Given the description of an element on the screen output the (x, y) to click on. 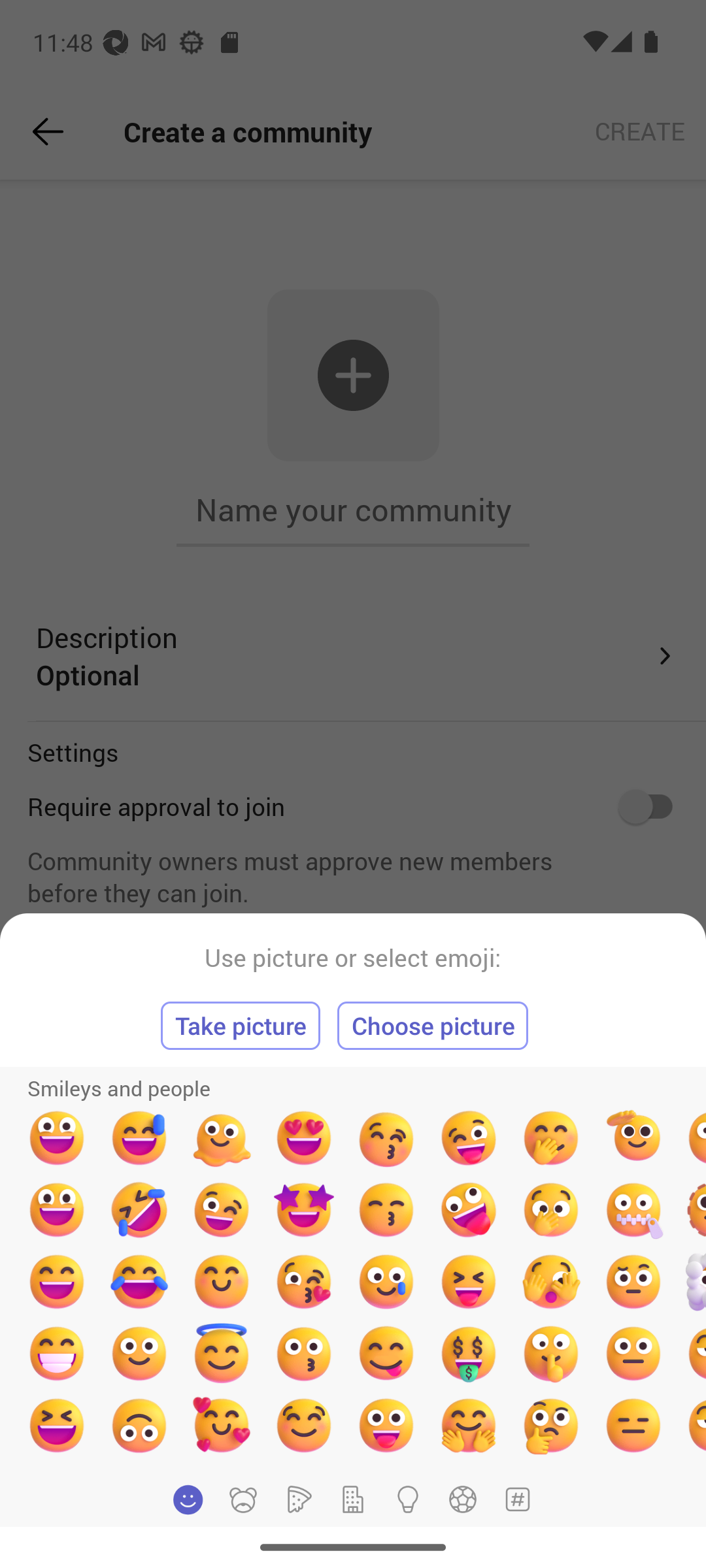
Take picture (240, 1025)
Choose picture (432, 1025)
Grinning face with big eyes emoji (56, 1138)
Sweat grinning emoji (139, 1138)
Melting face emoji (221, 1138)
Heart eyes emoji (303, 1138)
Kissing face with closed eyes emoji (386, 1138)
Winking tongue out emoji (468, 1138)
Giggle emoji (550, 1138)
Saluting face emoji (633, 1138)
Happy face emoji (56, 1210)
Rolling on the floor laughing emoji (139, 1210)
Wink emoji (221, 1210)
Star eyes emoji (303, 1210)
Kissing face with smiling eyes emoji (386, 1210)
Zany face emoji (468, 1210)
Hand over mouth emoji (550, 1210)
Zipper mouth face emoji (633, 1210)
Grinning face with smiling eyes emoji (56, 1281)
Crying with laughter emoji (139, 1281)
Smile eyes emoji (221, 1281)
Face blowing a kiss emoji (303, 1281)
Smiling face with tear emoji (386, 1281)
Squinting face with tongue emoji (468, 1281)
Peeking eye emoji (550, 1281)
Wondering emoji (633, 1281)
Beaming face with smiling eyes emoji (56, 1353)
Smile emoji (139, 1353)
Angel emoji (221, 1353)
Kiss emoji (303, 1353)
Cheeky emoji (386, 1353)
Money mouth face emoji (468, 1353)
My lips are sealed emoji (550, 1353)
Speechless emoji (633, 1353)
Laugh emoji (56, 1425)
Upside down face emoji (139, 1425)
In love emoji (221, 1425)
Mmmmm… emoji (303, 1425)
Face with tongue emoji (386, 1425)
Hugging face emoji (468, 1425)
Thinking emoji (550, 1425)
Expressionless emoji (633, 1425)
Smileys and people, selected (188, 1499)
Animals, not selected (243, 1499)
Food, not selected (297, 1499)
Travel and places, not selected (352, 1499)
Objects, not selected (407, 1499)
Activities, not selected (462, 1499)
Symbols, not selected (517, 1499)
